Given the description of an element on the screen output the (x, y) to click on. 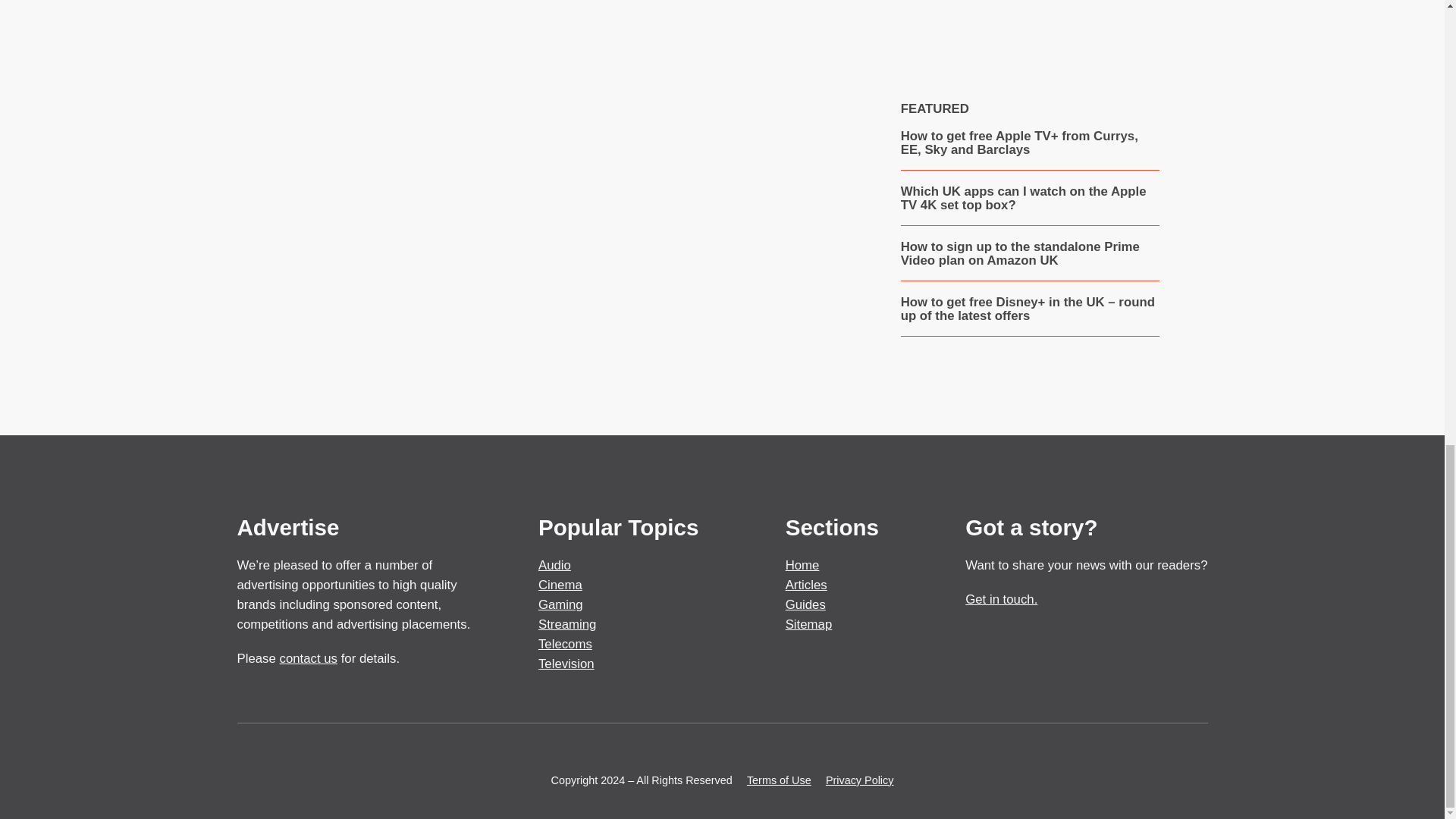
Cinema (560, 585)
Streaming (566, 624)
Articles (806, 585)
Gaming (560, 604)
Television (566, 663)
Which UK apps can I watch on the Apple TV 4K set top box? (1029, 198)
Home (802, 564)
Audio (554, 564)
Telecoms (565, 644)
